Given the description of an element on the screen output the (x, y) to click on. 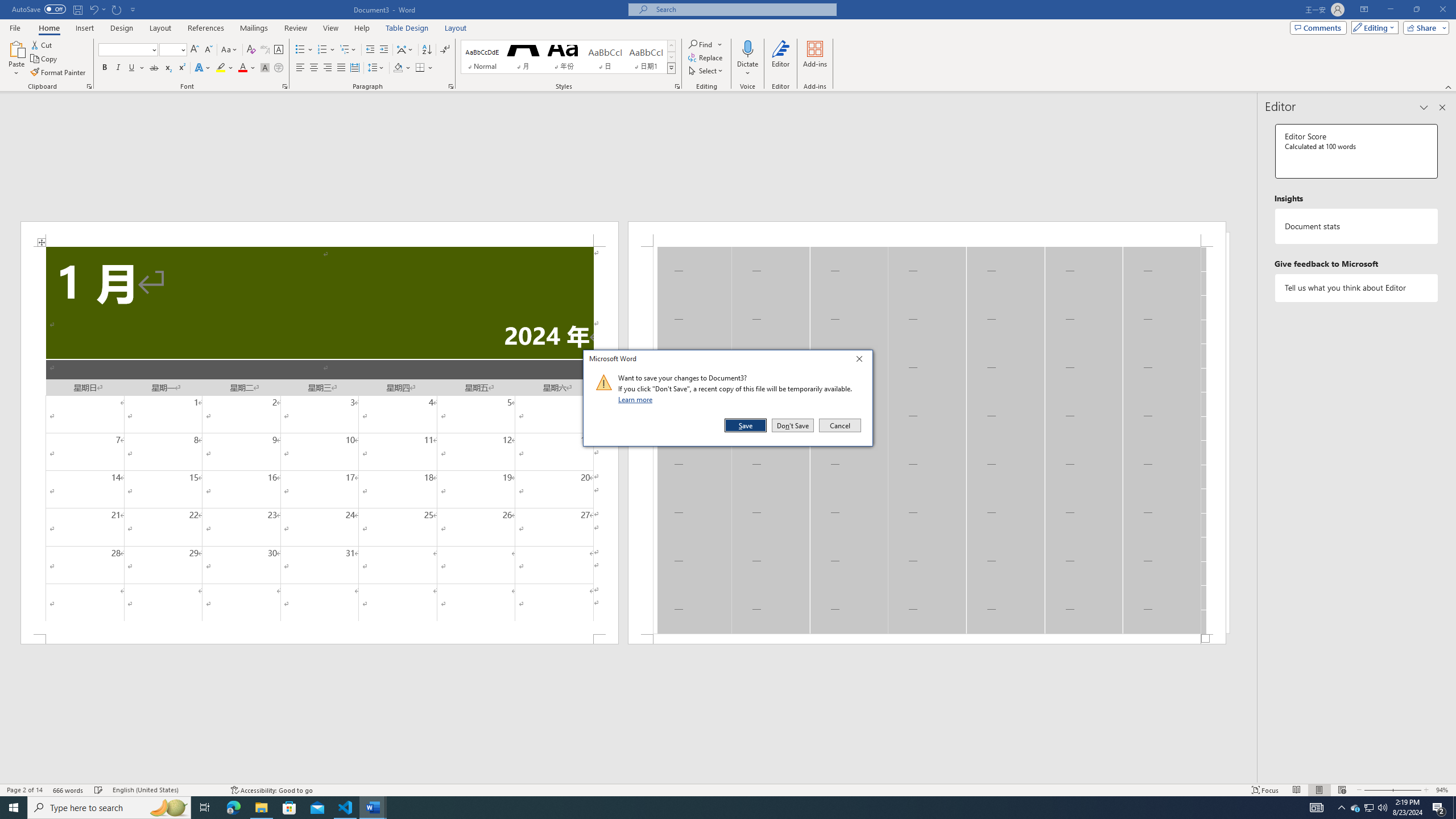
Start (13, 807)
AutoSave (38, 9)
Font Size (172, 49)
Learn more (636, 399)
Class: MsoCommandBar (728, 789)
Open (182, 49)
System (6, 6)
Microsoft search (742, 9)
Font (124, 49)
Minimize (1390, 9)
User Promoted Notification Area (1368, 807)
Table Design (407, 28)
